Given the description of an element on the screen output the (x, y) to click on. 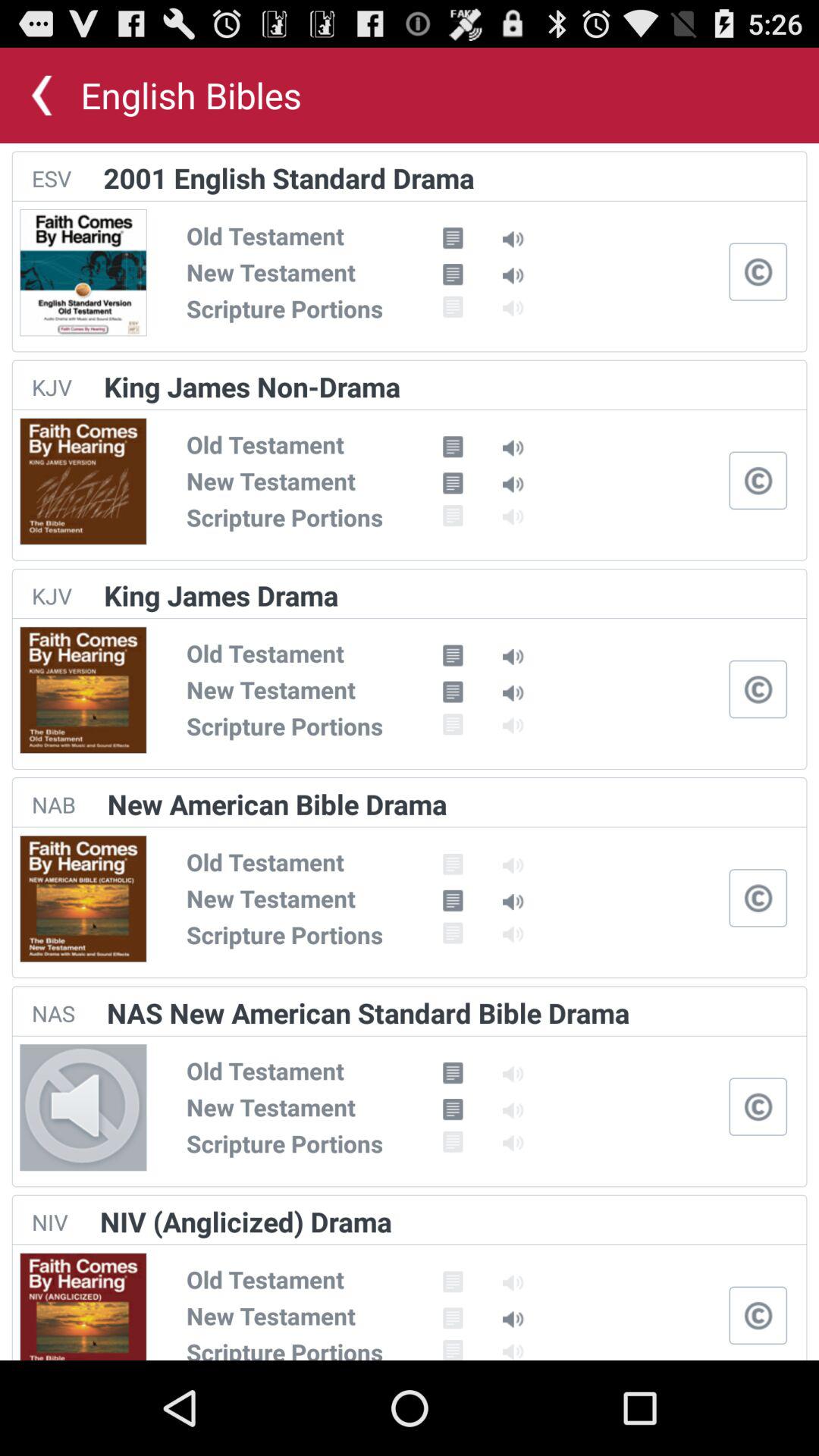
open (758, 271)
